Given the description of an element on the screen output the (x, y) to click on. 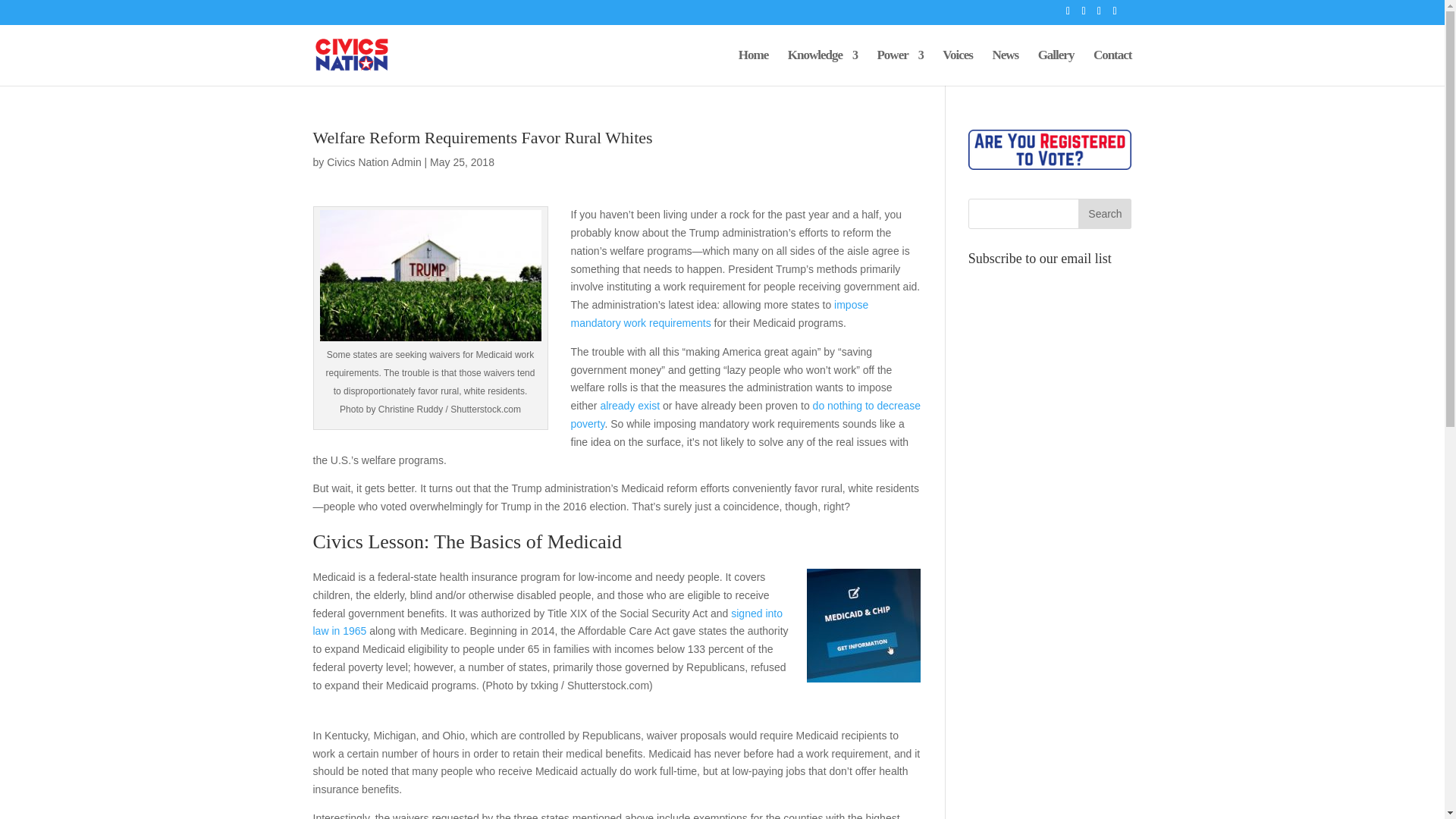
do nothing to decrease poverty (745, 414)
Posts by Civics Nation Admin (374, 162)
Search (1104, 214)
Knowledge (822, 67)
Gallery (1056, 67)
impose mandatory work requirements (718, 313)
signed into law in 1965 (547, 622)
already exist (629, 405)
Civics Nation Admin (374, 162)
Contact (1112, 67)
